Given the description of an element on the screen output the (x, y) to click on. 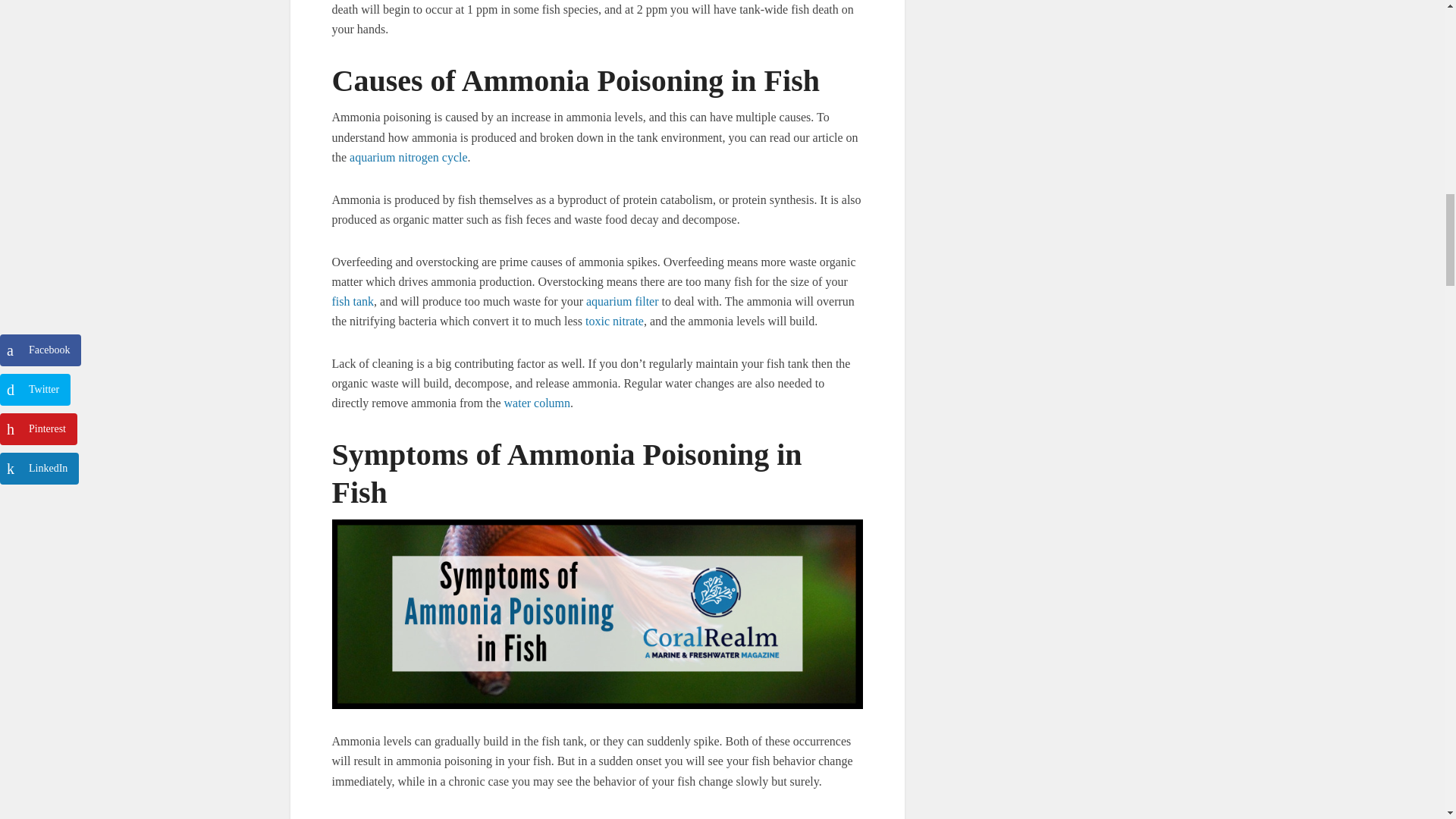
fish tank (352, 300)
aquarium nitrogen cycle (408, 156)
water column (536, 402)
toxic nitrate (614, 320)
aquarium filter (622, 300)
